Given the description of an element on the screen output the (x, y) to click on. 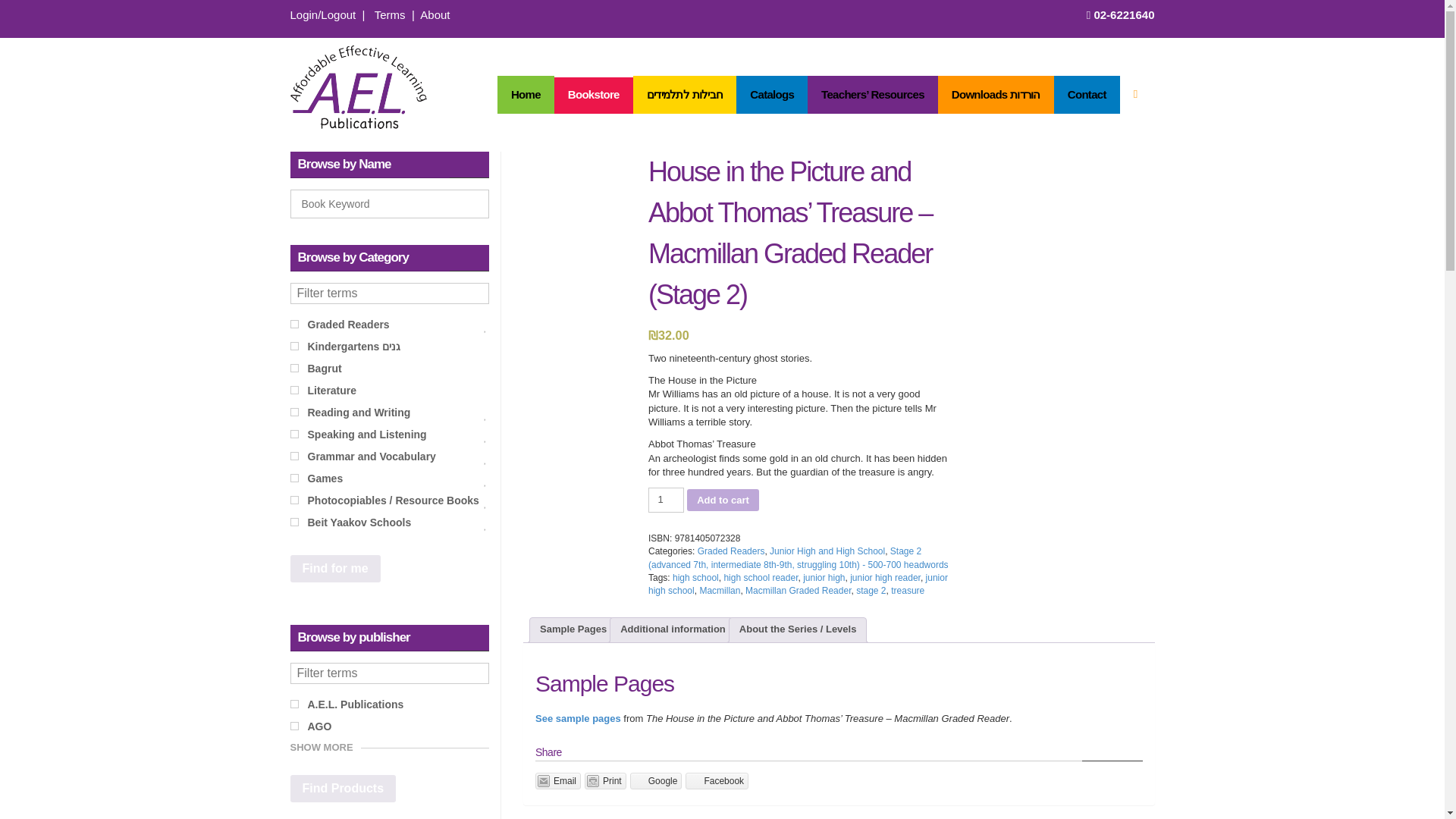
Bookstore (593, 94)
Catalogs (772, 94)
1 (665, 500)
Share on Facebook (716, 781)
Click to email this to a friend (557, 781)
Click to print (605, 781)
Terms (389, 725)
Start shopping (390, 14)
